Given the description of an element on the screen output the (x, y) to click on. 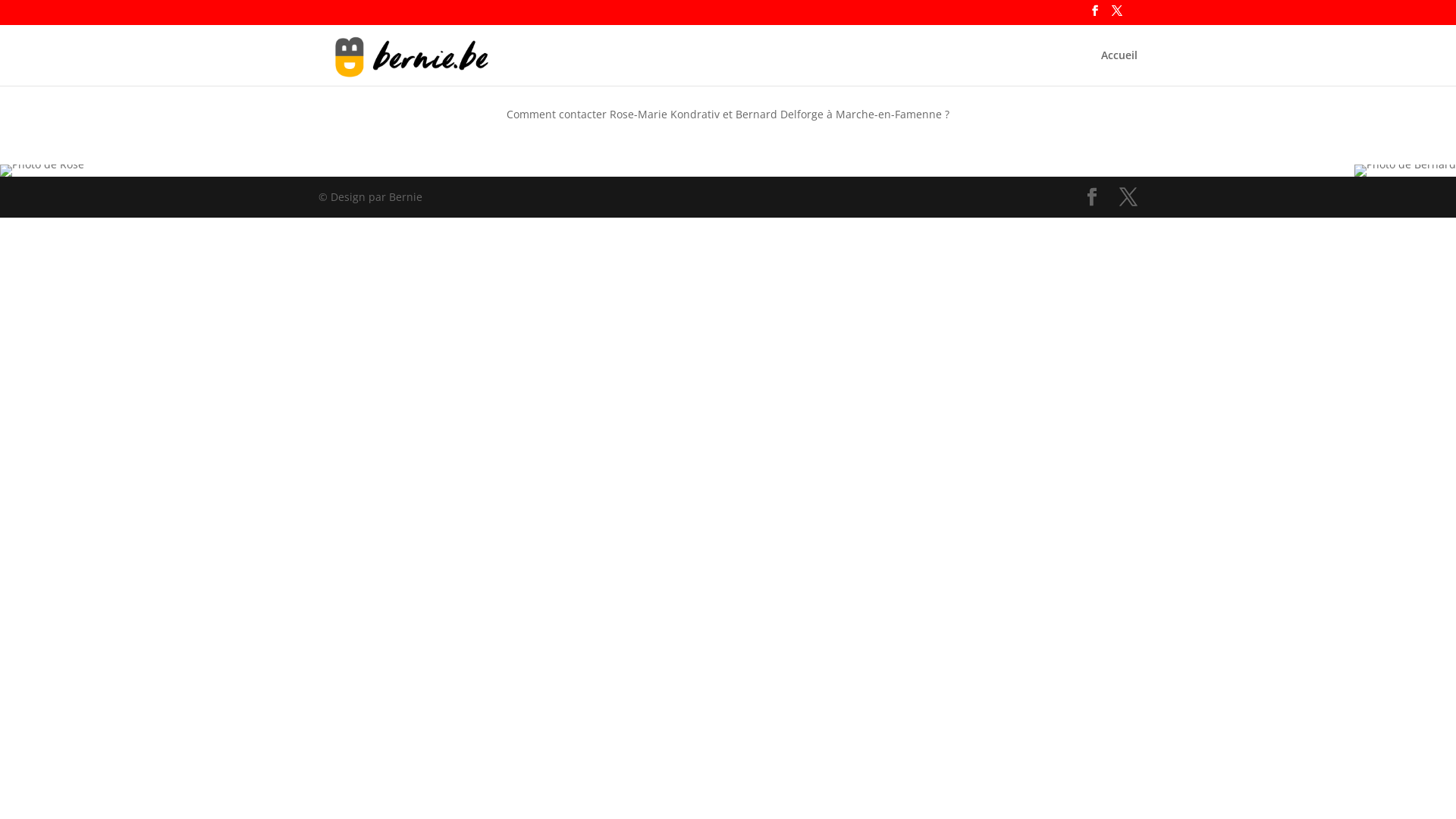
Accueil Element type: text (1119, 67)
rose Element type: hover (42, 170)
